Given the description of an element on the screen output the (x, y) to click on. 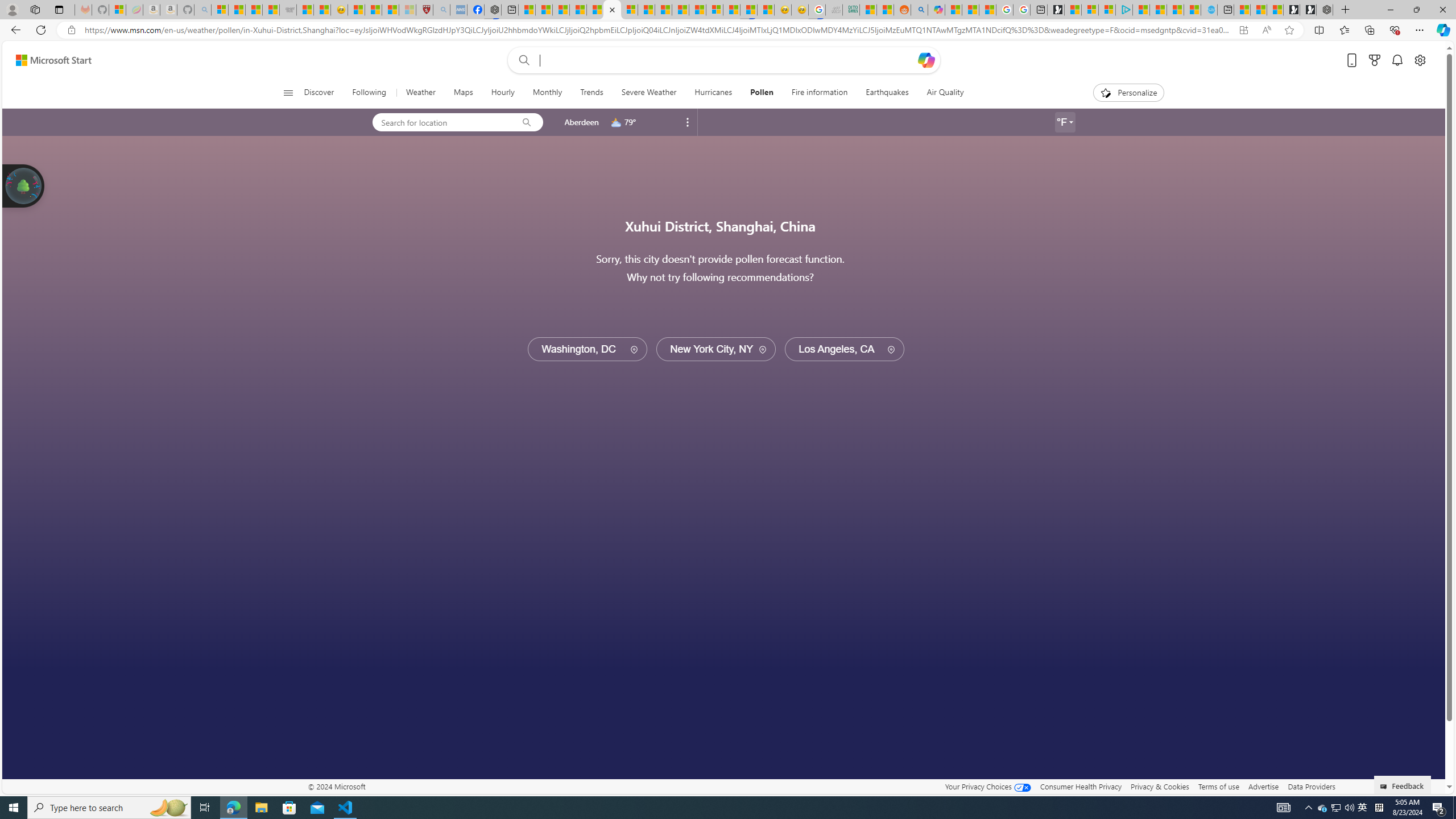
Weather settings (1064, 122)
Earthquakes (886, 92)
Air Quality (940, 92)
